Given the description of an element on the screen output the (x, y) to click on. 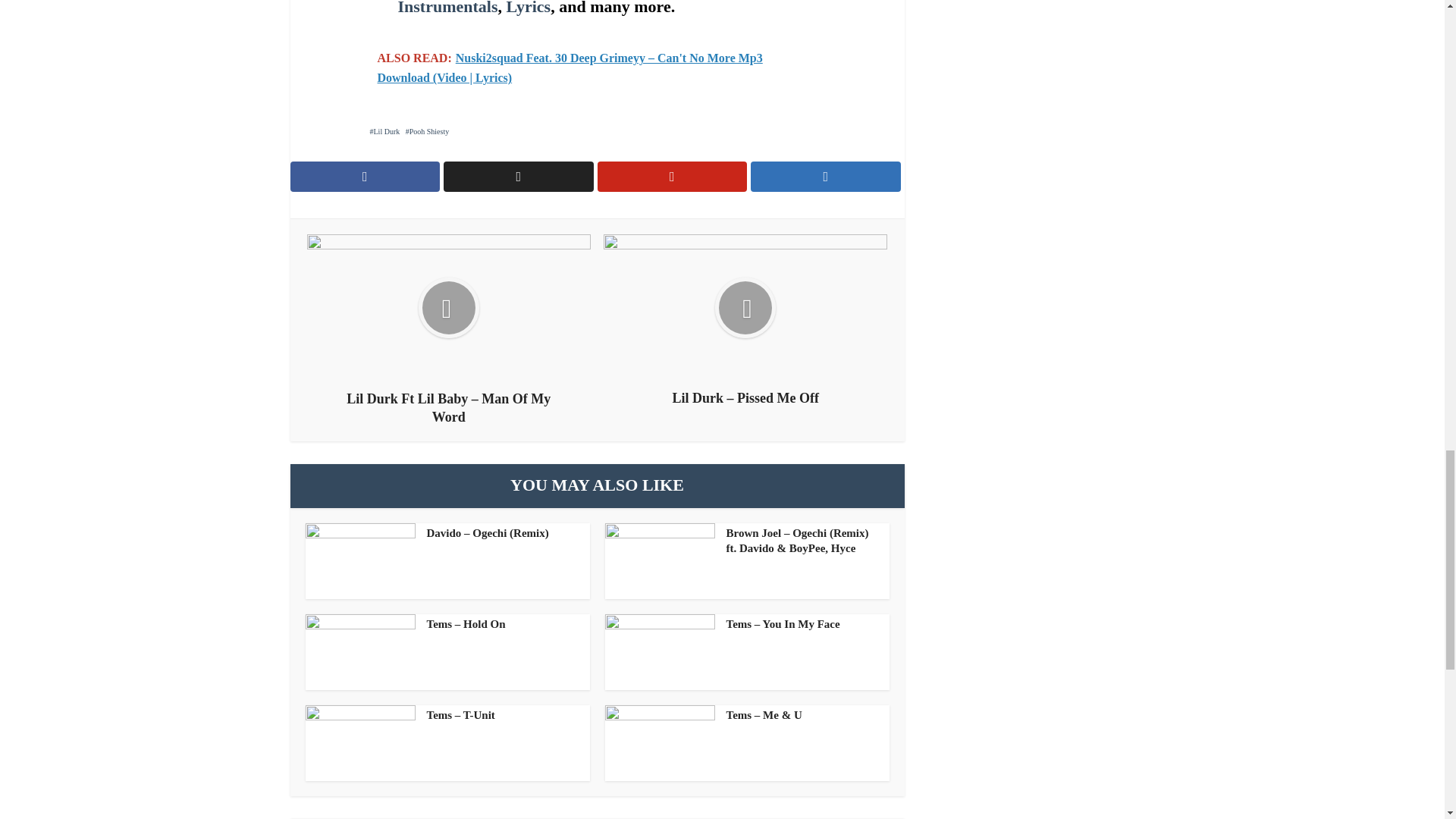
Pooh Shiesty (427, 131)
Mp3 Instrumentals (582, 7)
Lyrics (528, 7)
Lil Durk (384, 131)
